Given the description of an element on the screen output the (x, y) to click on. 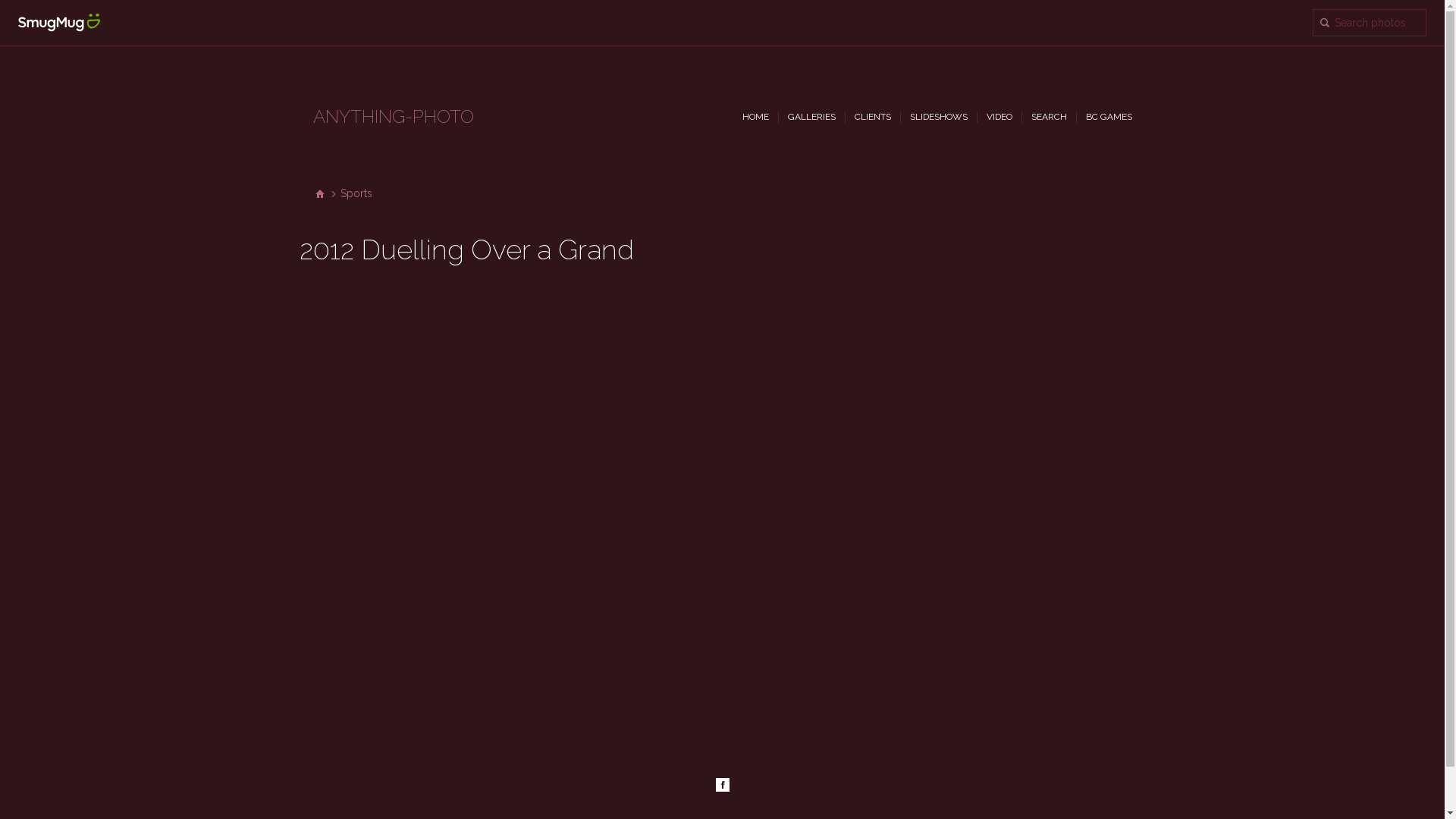
CLIENTS Element type: text (871, 116)
ANYTHING-PHOTO Element type: text (392, 118)
VIDEO Element type: text (998, 116)
Search "2012 Duelling Over a Grand" for photos Element type: hover (1369, 22)
GALLERIES Element type: text (810, 116)
SEARCH Element type: text (1048, 116)
BC GAMES Element type: text (1108, 116)
Sports Element type: text (355, 193)
HOME Element type: text (754, 116)
SLIDESHOWS Element type: text (938, 116)
SmugMug Element type: hover (59, 22)
